Given the description of an element on the screen output the (x, y) to click on. 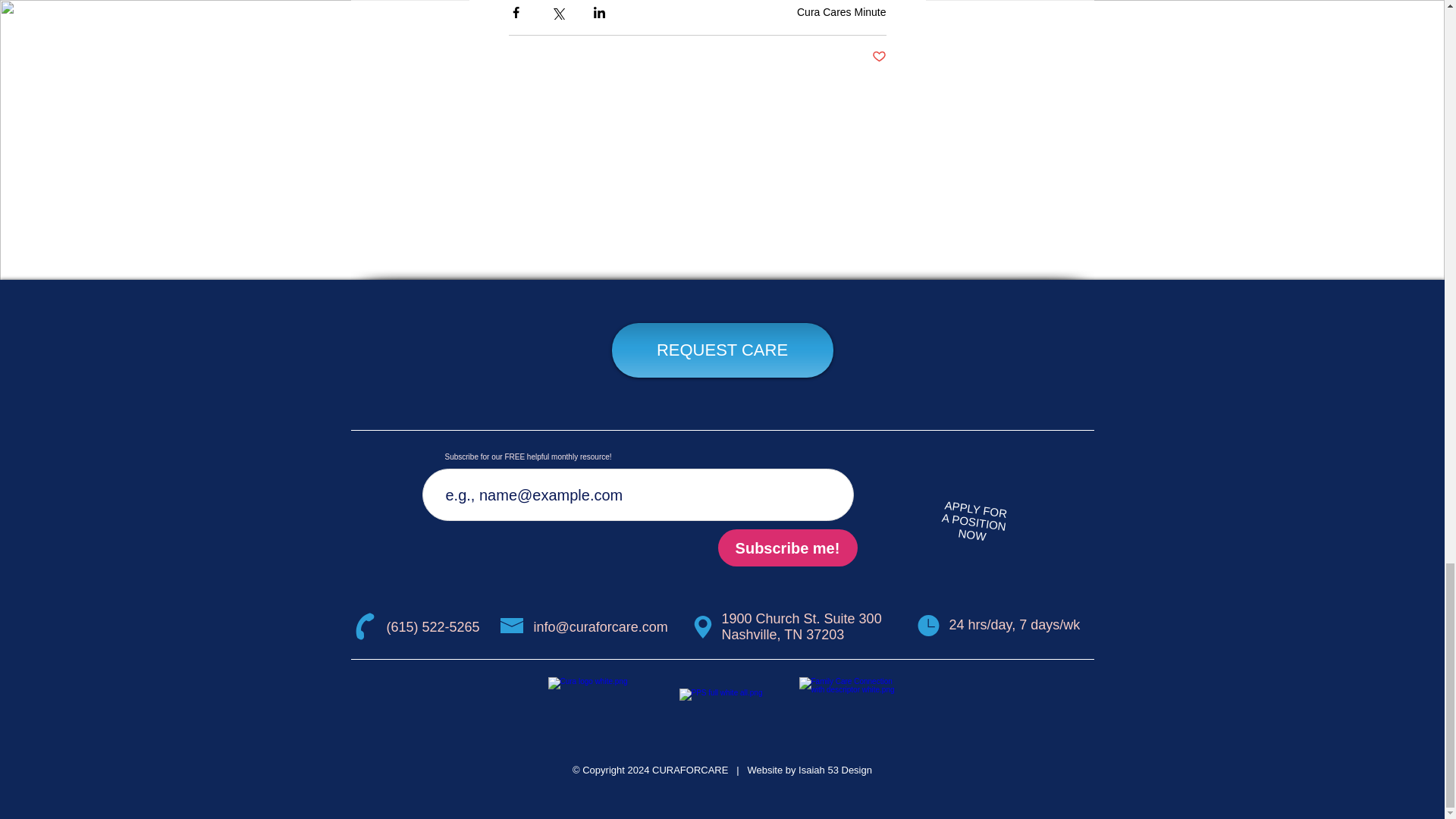
Subscribe me! (787, 547)
Cura Cares Minute (841, 11)
Post not marked as liked (879, 57)
REQUEST CARE (973, 517)
